Given the description of an element on the screen output the (x, y) to click on. 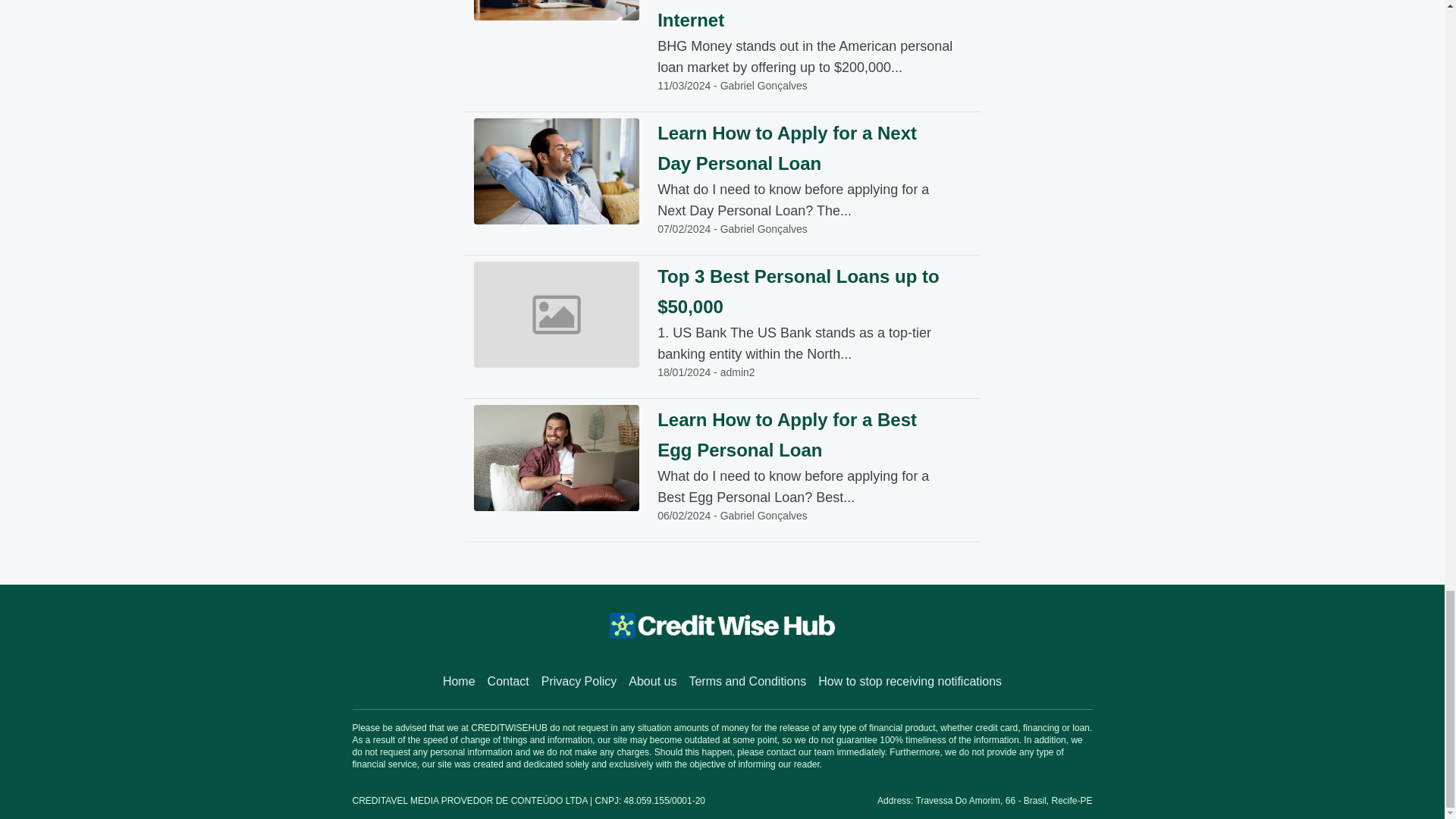
Terms and Conditions (747, 680)
Contact (508, 680)
Privacy Policy (579, 680)
About us (652, 680)
Home (459, 680)
How to stop receiving notifications (909, 680)
